Given the description of an element on the screen output the (x, y) to click on. 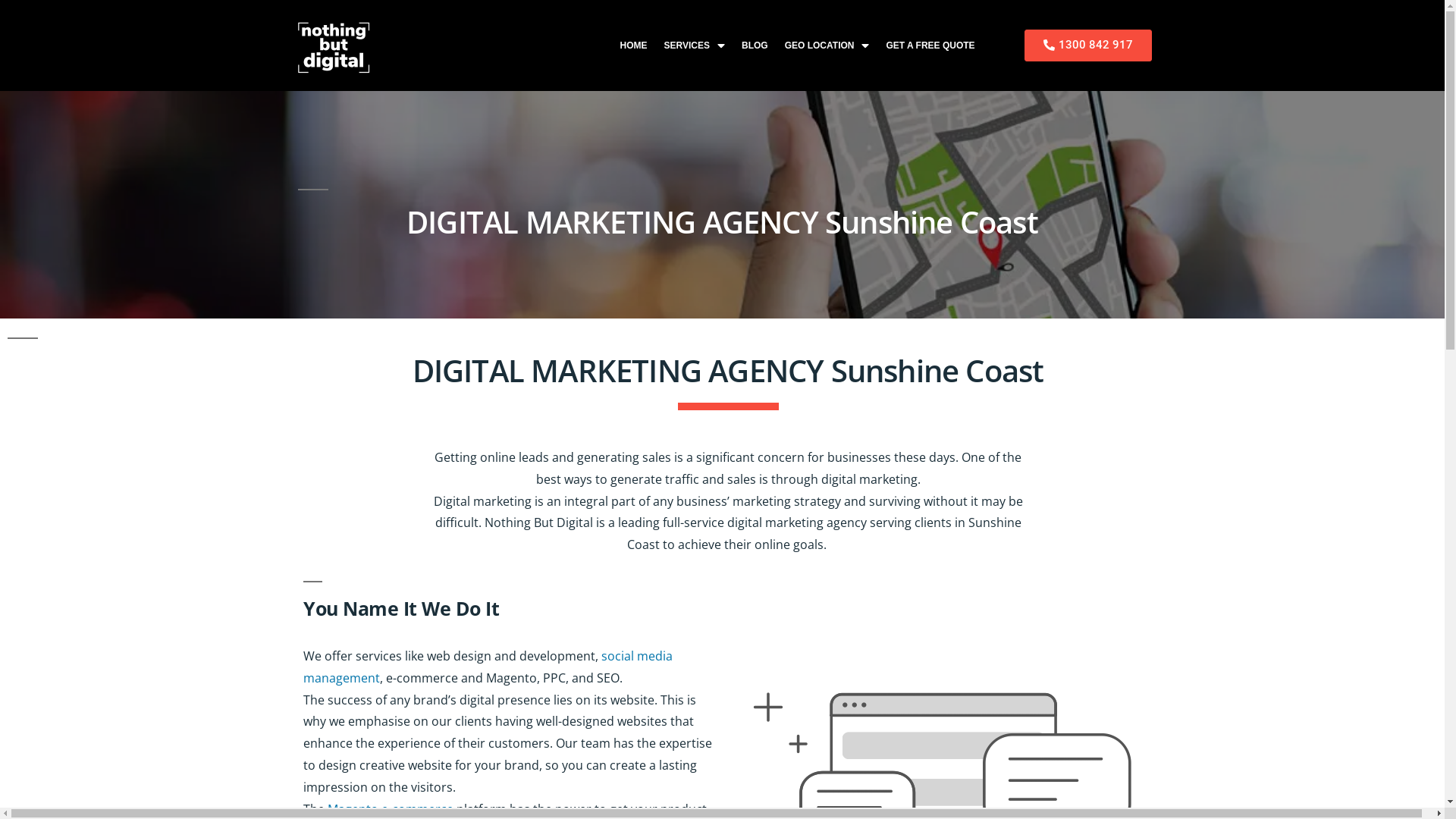
1300 842 917 Element type: text (1087, 45)
HOME Element type: text (633, 45)
social media management Element type: text (487, 666)
Magento e-commerce Element type: text (390, 808)
BLOG Element type: text (754, 45)
GET A FREE QUOTE Element type: text (929, 45)
SERVICES Element type: text (694, 45)
GEO LOCATION Element type: text (827, 45)
